Given the description of an element on the screen output the (x, y) to click on. 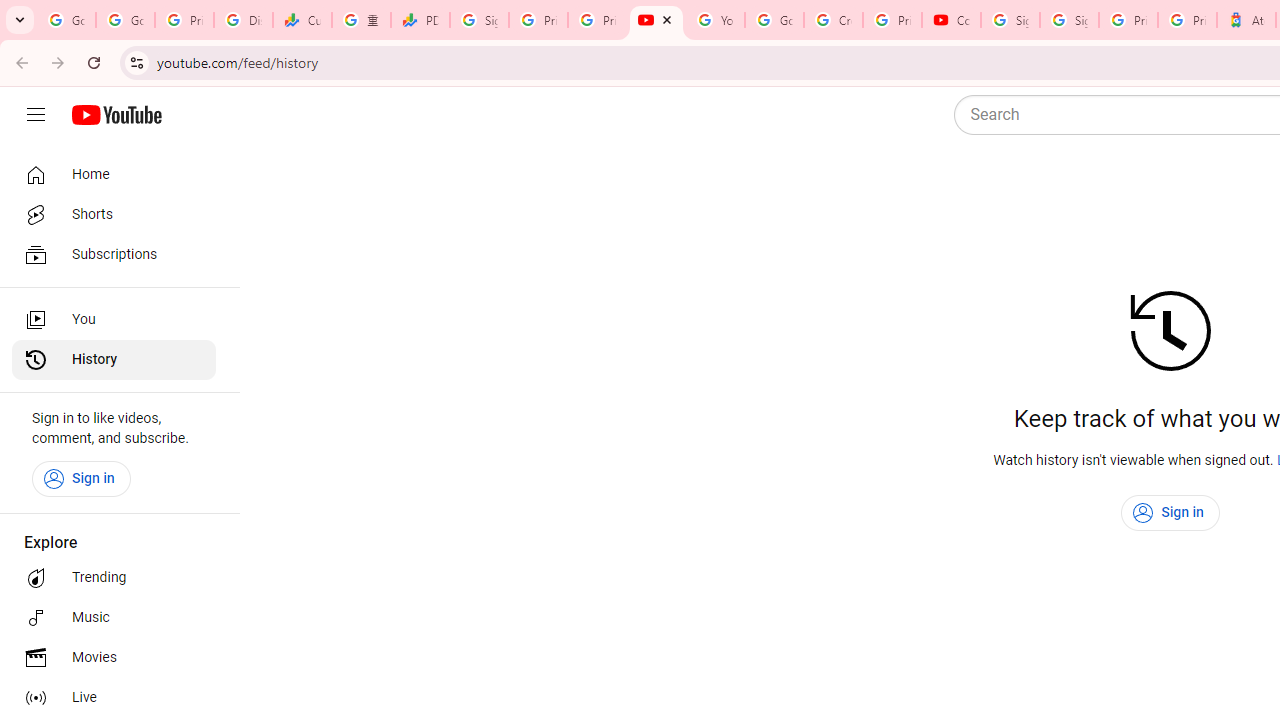
Home (113, 174)
PDD Holdings Inc - ADR (PDD) Price & News - Google Finance (420, 20)
Content Creator Programs & Opportunities - YouTube Creators (950, 20)
Sign in (1170, 513)
Movies (113, 657)
Sign in - Google Accounts (479, 20)
Sign in - Google Accounts (1069, 20)
Privacy Checkup (597, 20)
Shorts (113, 214)
Currencies - Google Finance (301, 20)
